Given the description of an element on the screen output the (x, y) to click on. 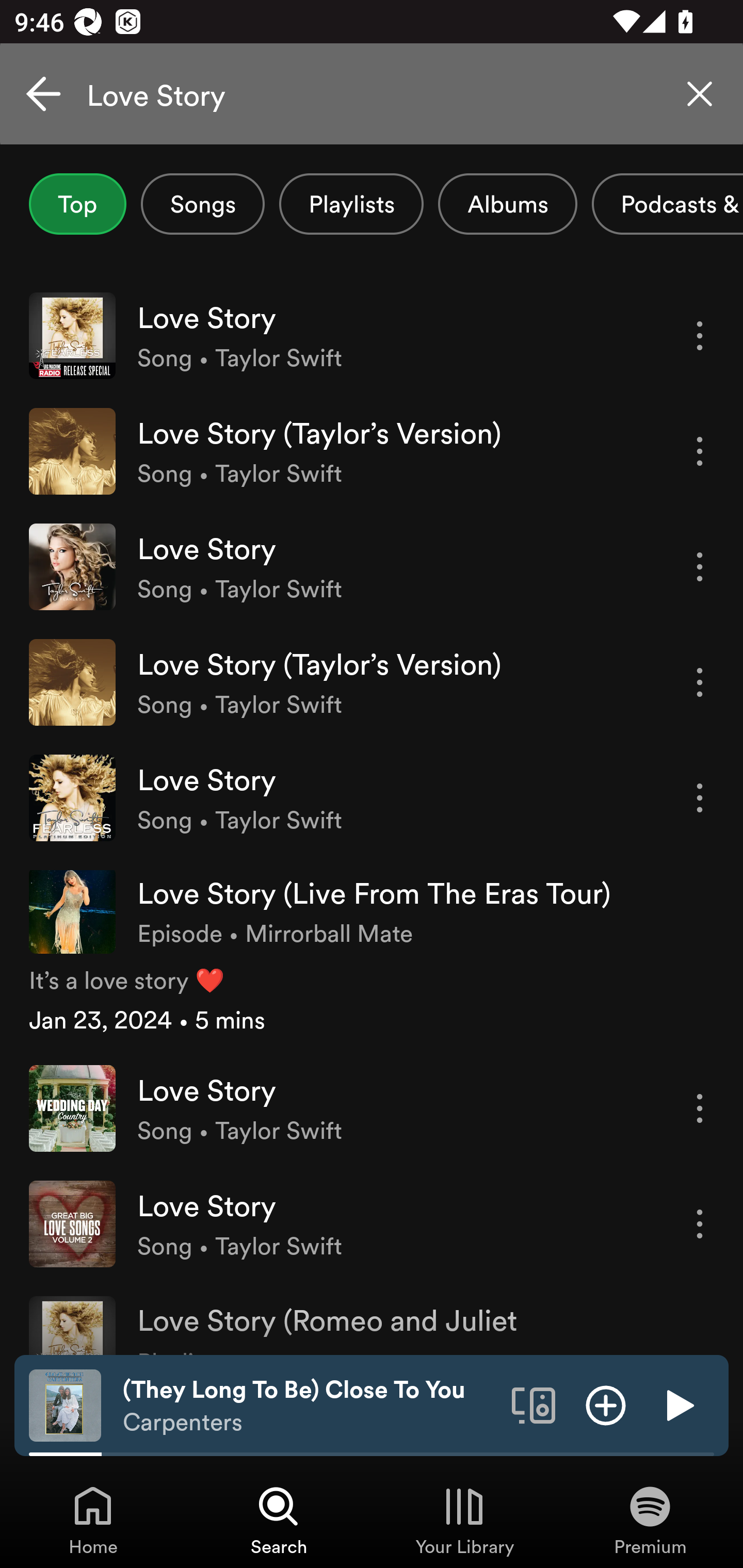
Love Story (371, 93)
Cancel (43, 93)
Clear search query (699, 93)
Top (77, 203)
Songs (202, 203)
Playlists (351, 203)
Albums (507, 203)
Podcasts & Shows (667, 203)
More options for song Love Story (699, 336)
More options for song Love Story (699, 566)
More options for song Love Story (699, 798)
More options for song Love Story (699, 1108)
More options for song Love Story (699, 1223)
Love Story (Romeo and Juliet Playlist (371, 1317)
(They Long To Be) Close To You Carpenters (309, 1405)
The cover art of the currently playing track (64, 1404)
Connect to a device. Opens the devices menu (533, 1404)
Add item (605, 1404)
Play (677, 1404)
Home, Tab 1 of 4 Home Home (92, 1519)
Search, Tab 2 of 4 Search Search (278, 1519)
Your Library, Tab 3 of 4 Your Library Your Library (464, 1519)
Premium, Tab 4 of 4 Premium Premium (650, 1519)
